Given the description of an element on the screen output the (x, y) to click on. 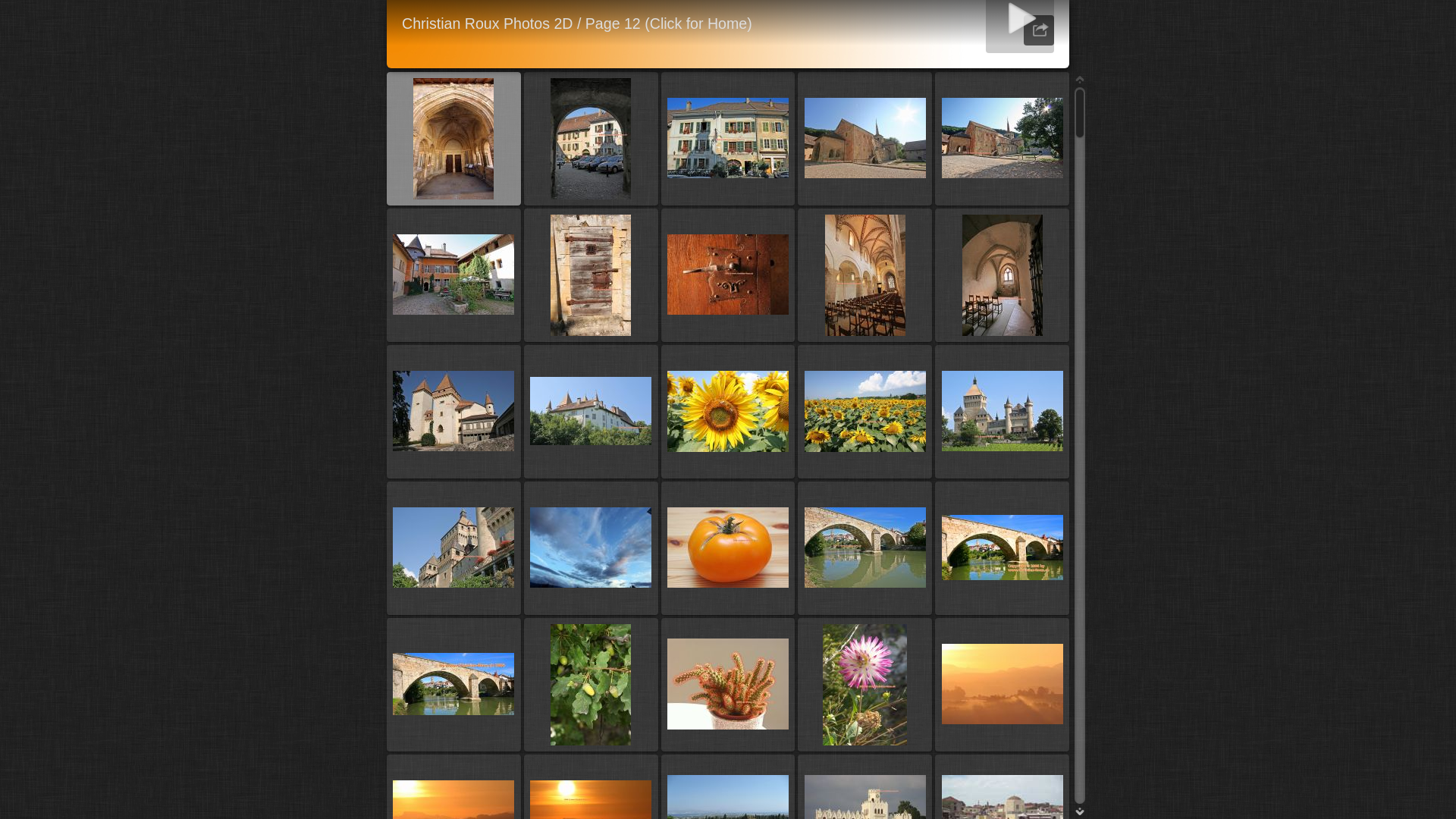
Christian Roux Photos 2D / Page 12 (Click for Home) Element type: text (576, 23)
  Element type: text (1038, 30)
